Given the description of an element on the screen output the (x, y) to click on. 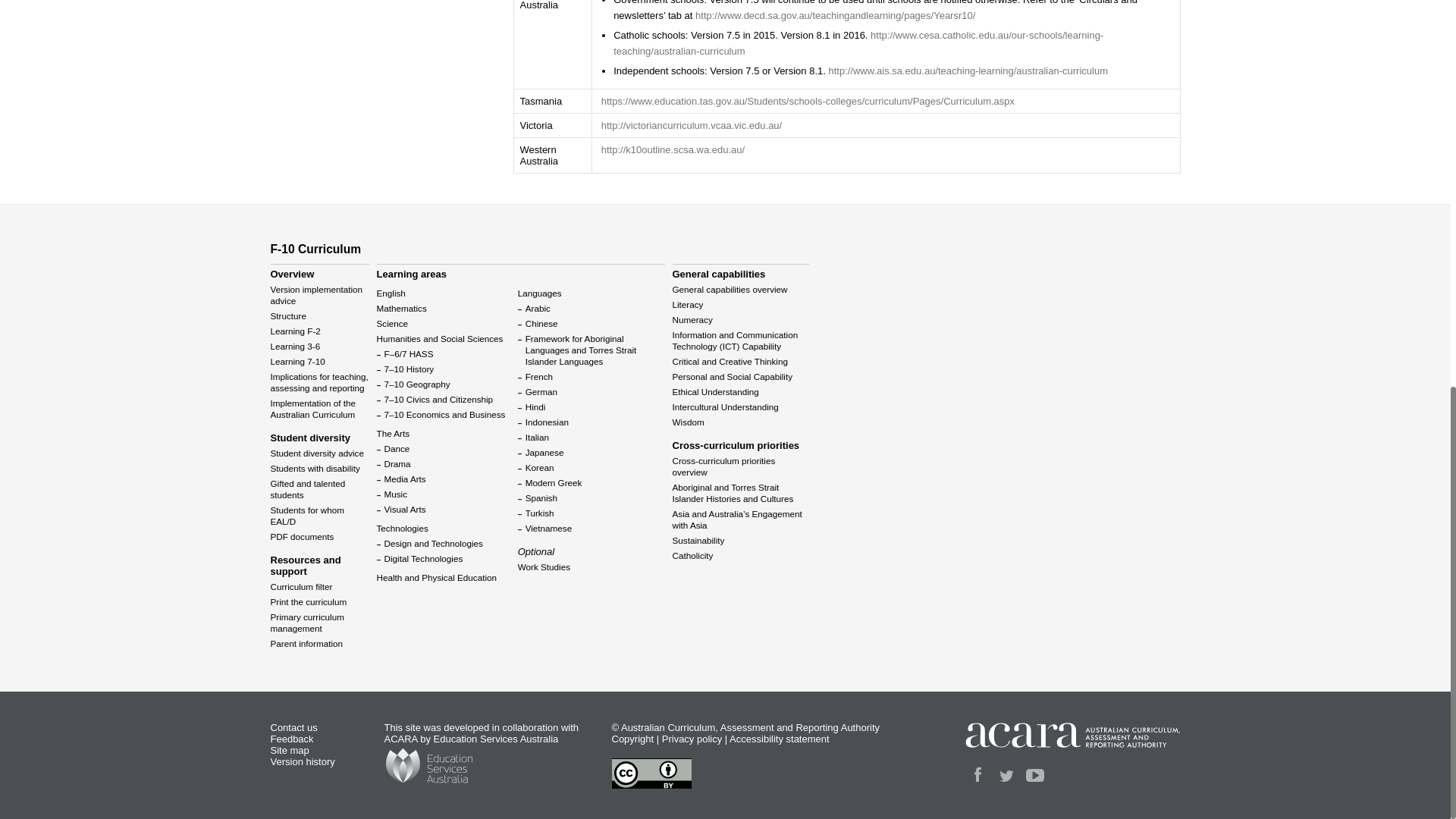
View version history (301, 761)
View the copyright statement (632, 738)
View the site map (288, 749)
Give feedback (291, 738)
View the accessibility statement (779, 738)
View ACARA contact details (293, 727)
